Given the description of an element on the screen output the (x, y) to click on. 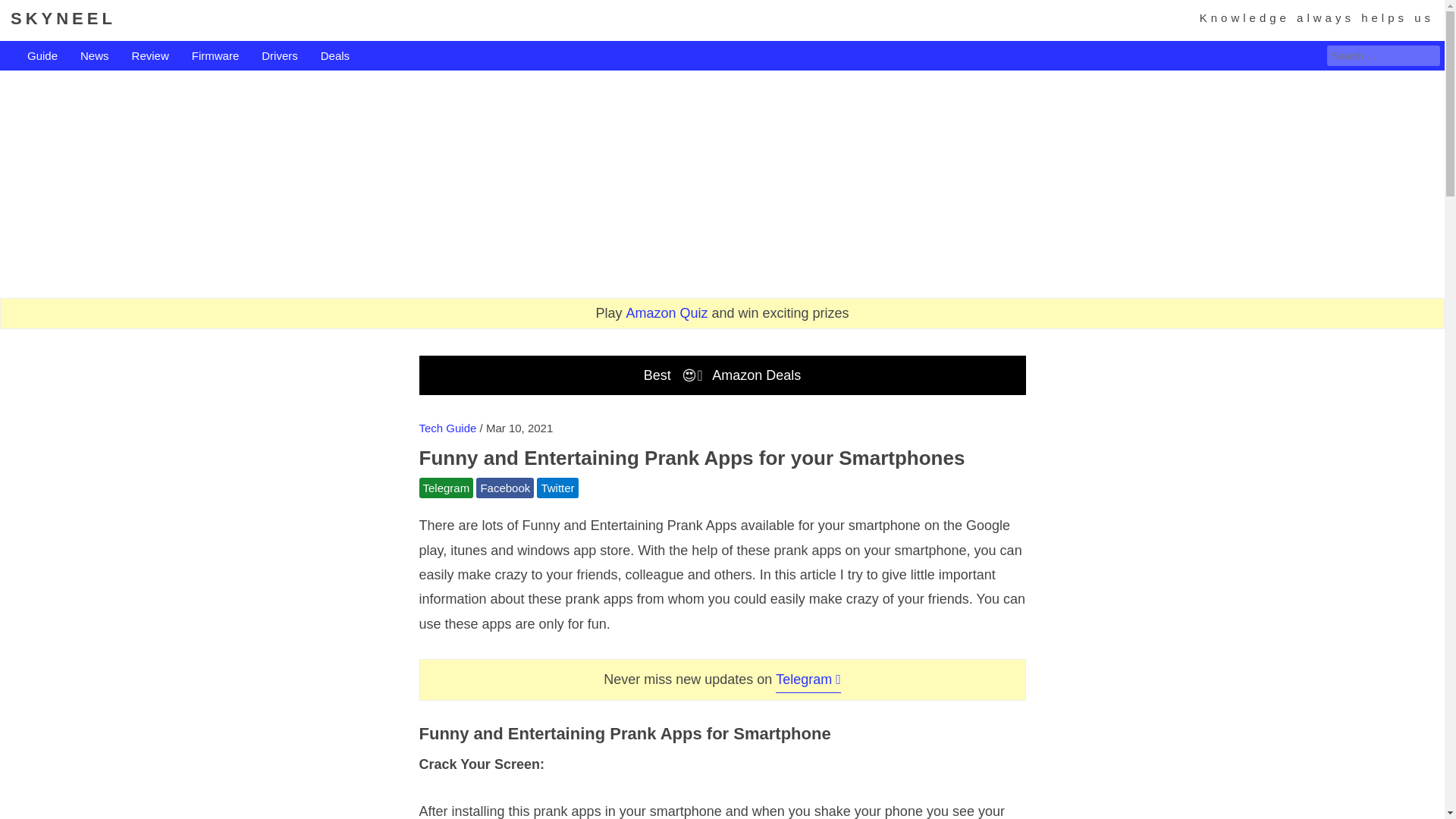
Join us on Facebook (505, 487)
Guide (42, 55)
Telegram (446, 487)
Join us on Twitter (557, 487)
Facebook (505, 487)
SKYNEEL (63, 18)
News (94, 55)
Firmware (216, 55)
Join us on Telegram (446, 487)
Twitter (557, 487)
